Given the description of an element on the screen output the (x, y) to click on. 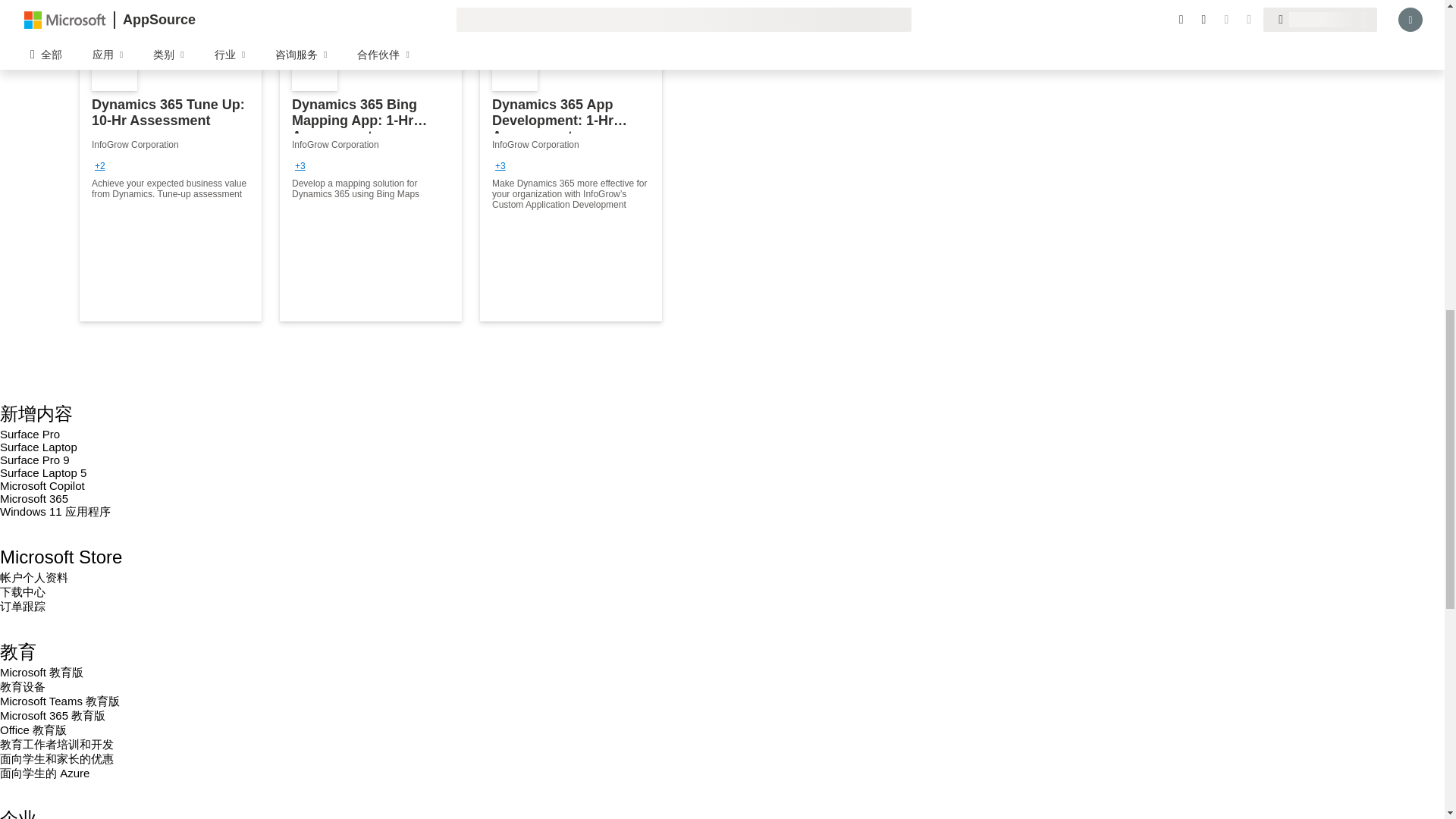
Microsoft Copilot (42, 485)
Surface Laptop 5 (42, 472)
Surface Pro (29, 433)
Microsoft 365 (34, 498)
Surface Laptop (38, 446)
Surface Pro 9 (34, 459)
